Given the description of an element on the screen output the (x, y) to click on. 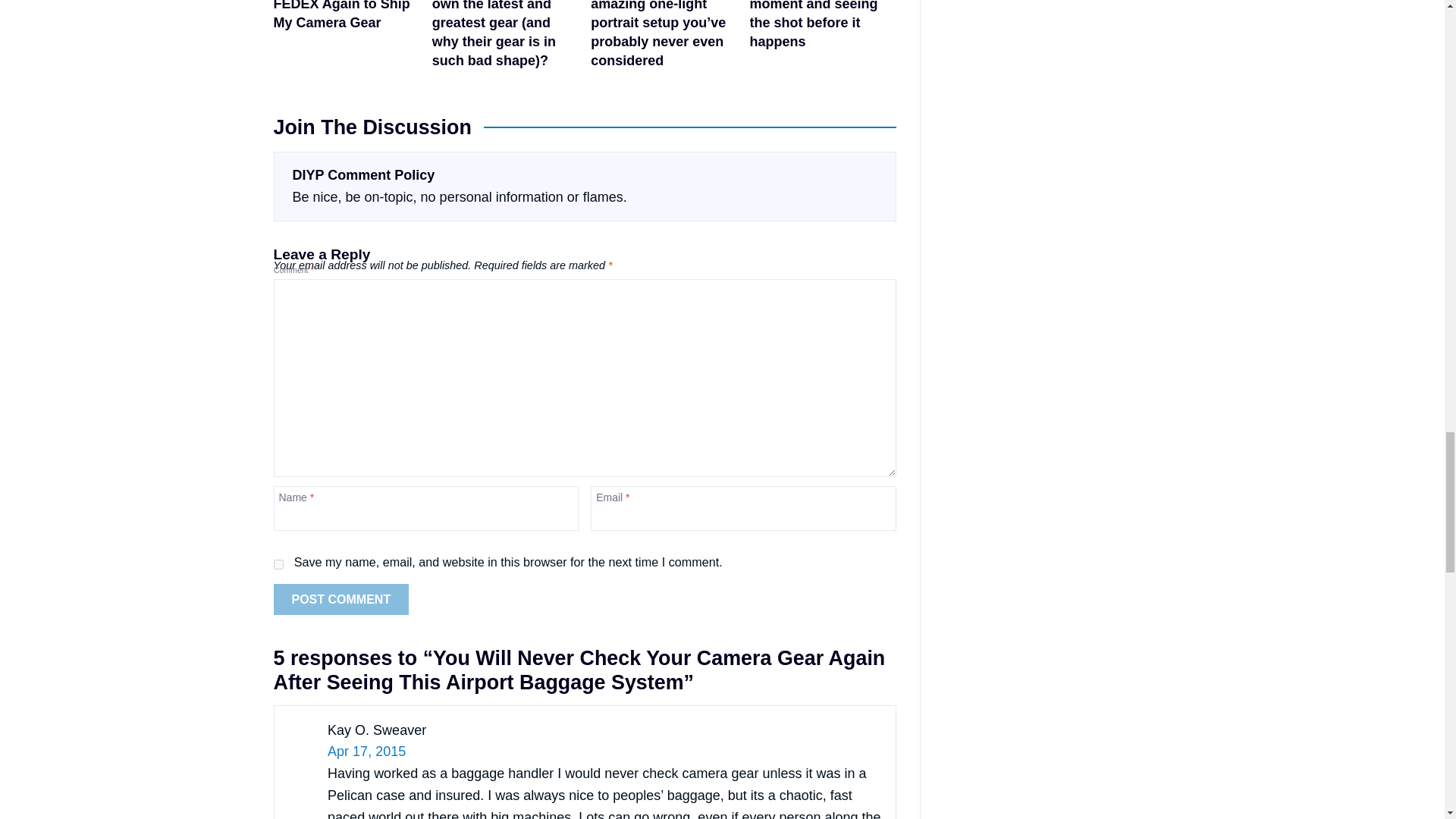
yes (277, 564)
Post Comment (341, 599)
